Given the description of an element on the screen output the (x, y) to click on. 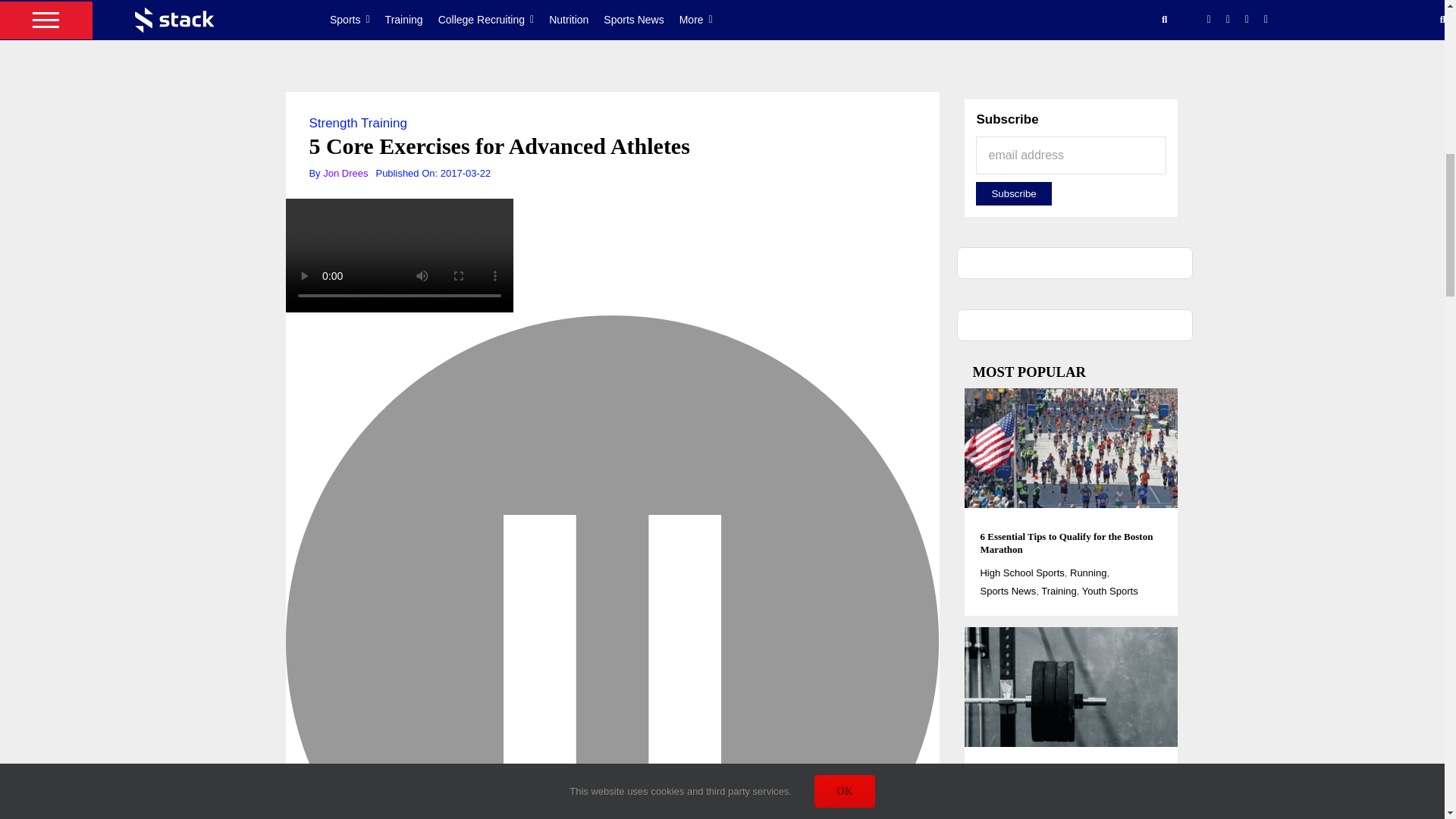
Strength Training (357, 123)
Subscribe (1013, 193)
Posts by Jon Drees (345, 173)
